Given the description of an element on the screen output the (x, y) to click on. 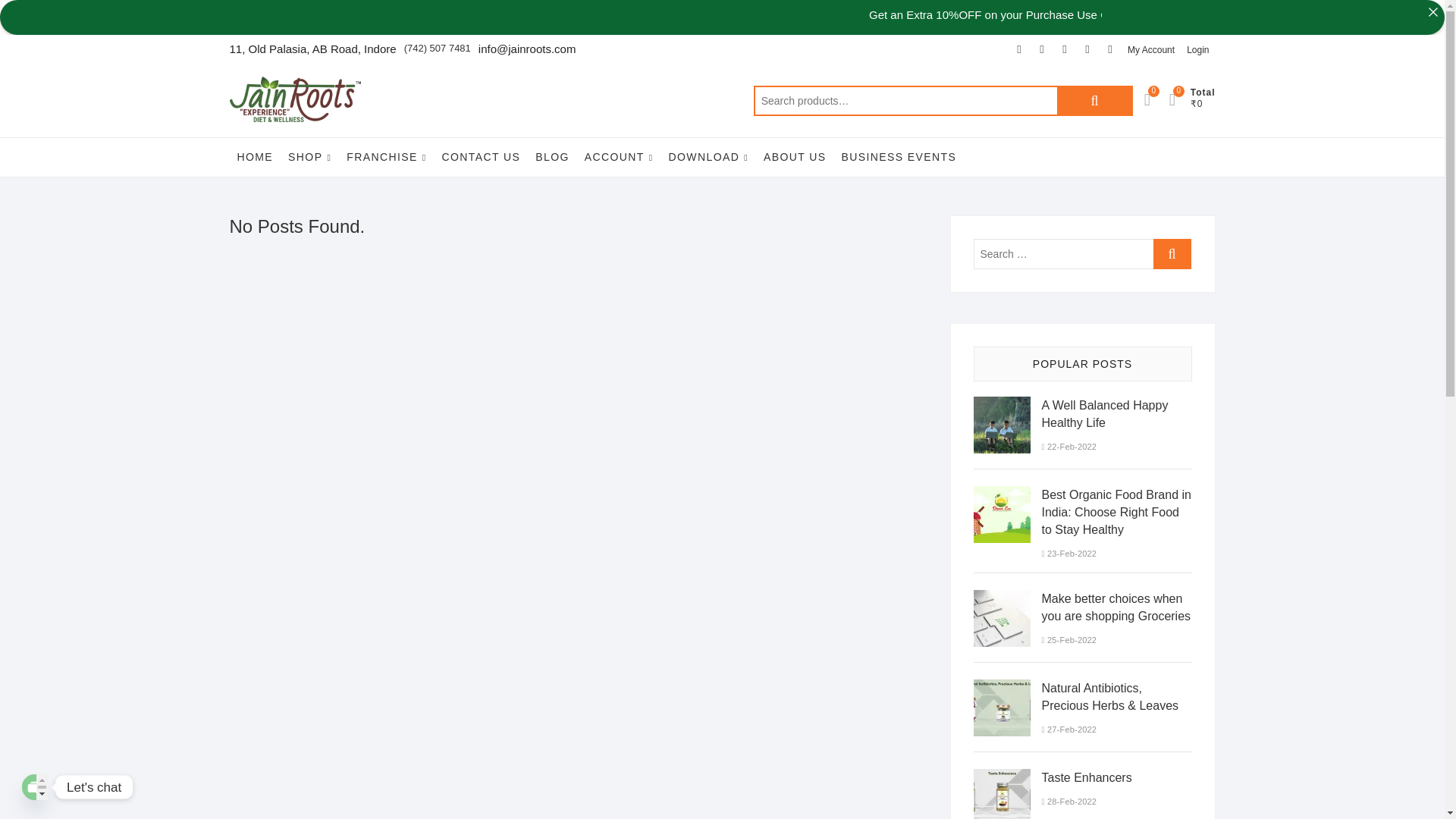
My Account (1150, 49)
linkedin (1110, 48)
HOME (254, 157)
twitter (1041, 48)
SHOP (310, 157)
FRANCHISE (386, 157)
Search (1094, 100)
Call Us (437, 48)
facebook (1018, 48)
